Given the description of an element on the screen output the (x, y) to click on. 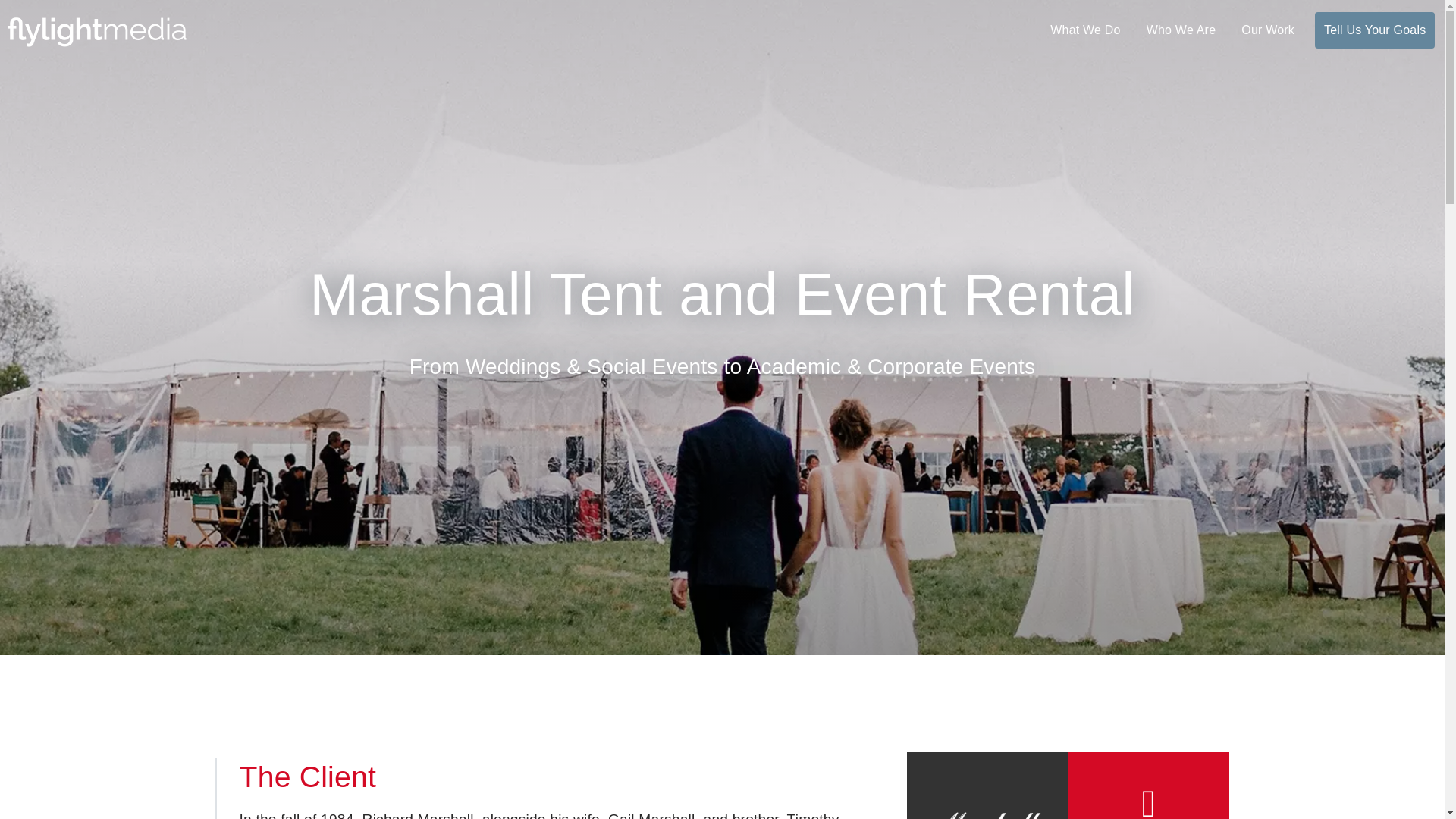
Tell Us Your Goals (1374, 30)
Logo (96, 30)
Our Work (1267, 30)
Who We Are (1181, 30)
What We Do (1085, 30)
